Given the description of an element on the screen output the (x, y) to click on. 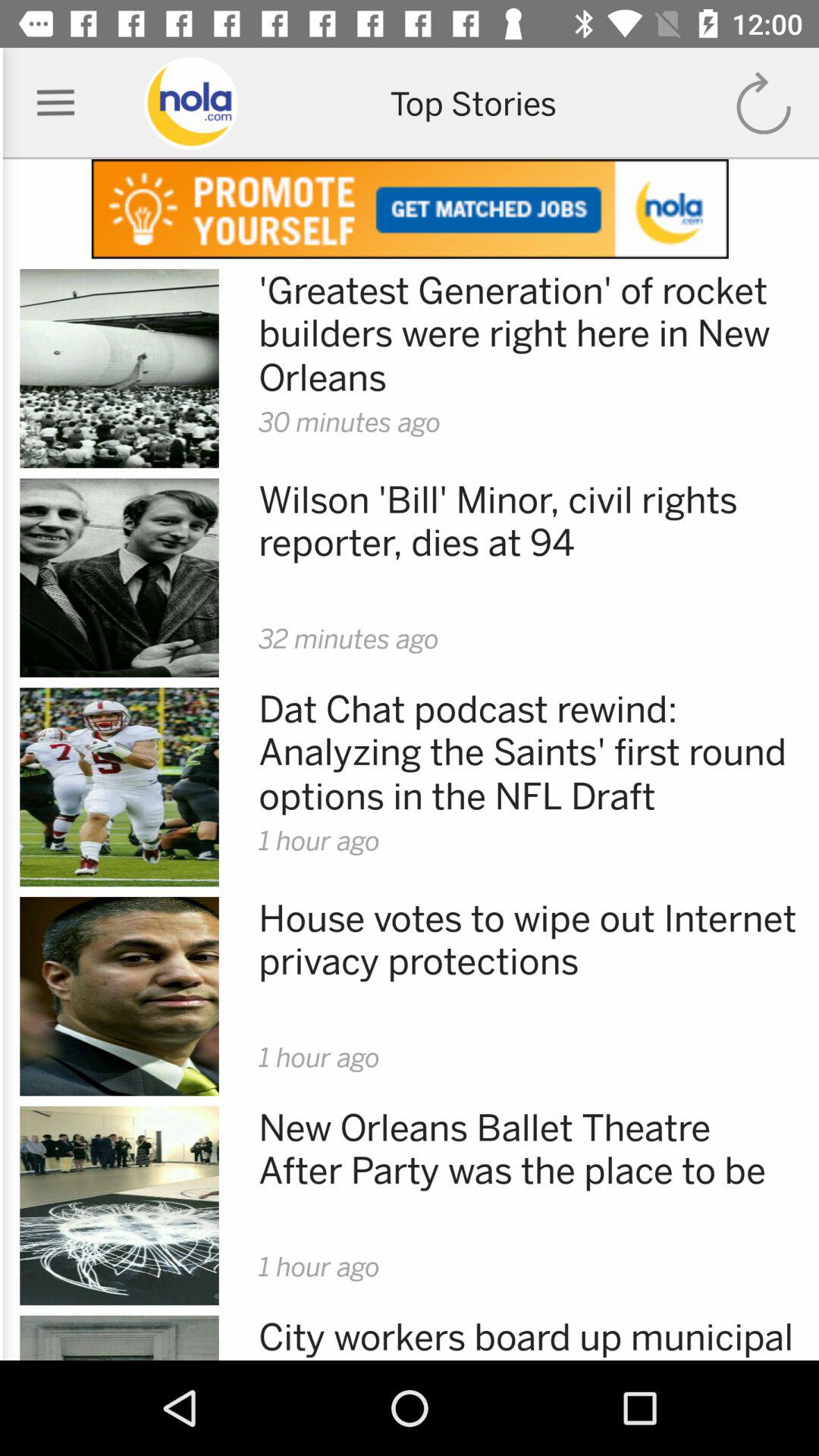
advertisement (409, 208)
